Given the description of an element on the screen output the (x, y) to click on. 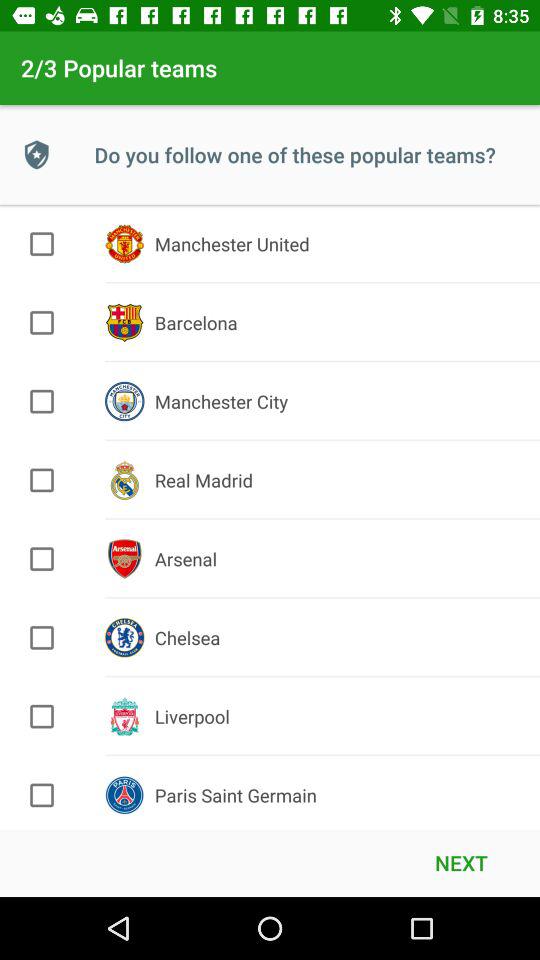
third check box from top (42, 401)
select the first check box (42, 244)
second check box from bottom (42, 716)
check box left to real madrid (42, 480)
select the image right to third check box (124, 401)
choose the image right to check box from the bottom (124, 795)
click on check box which is beside arsenal (42, 559)
